Given the description of an element on the screen output the (x, y) to click on. 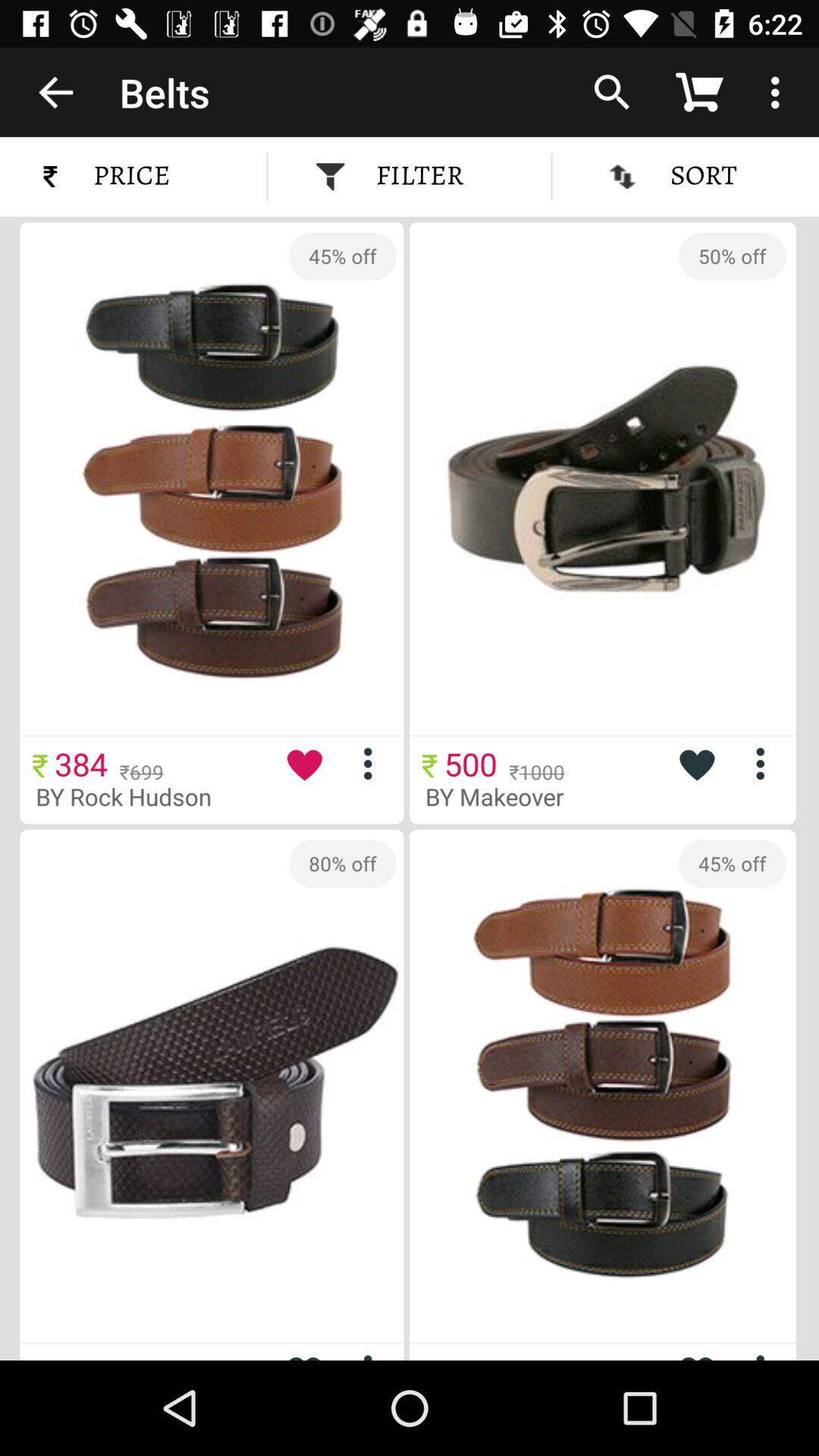
next page (373, 1353)
